Given the description of an element on the screen output the (x, y) to click on. 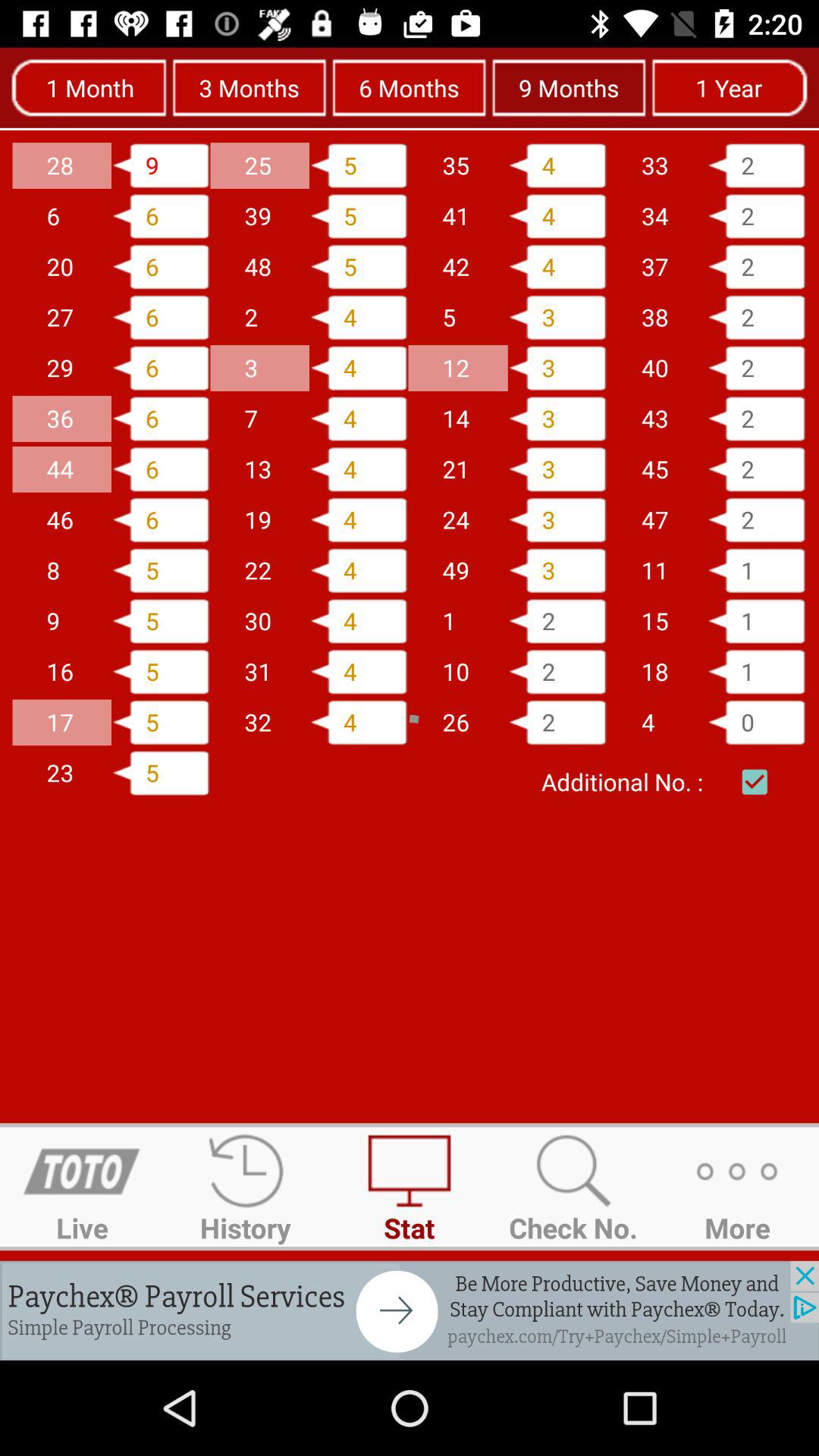
open advertisement (409, 1310)
